Given the description of an element on the screen output the (x, y) to click on. 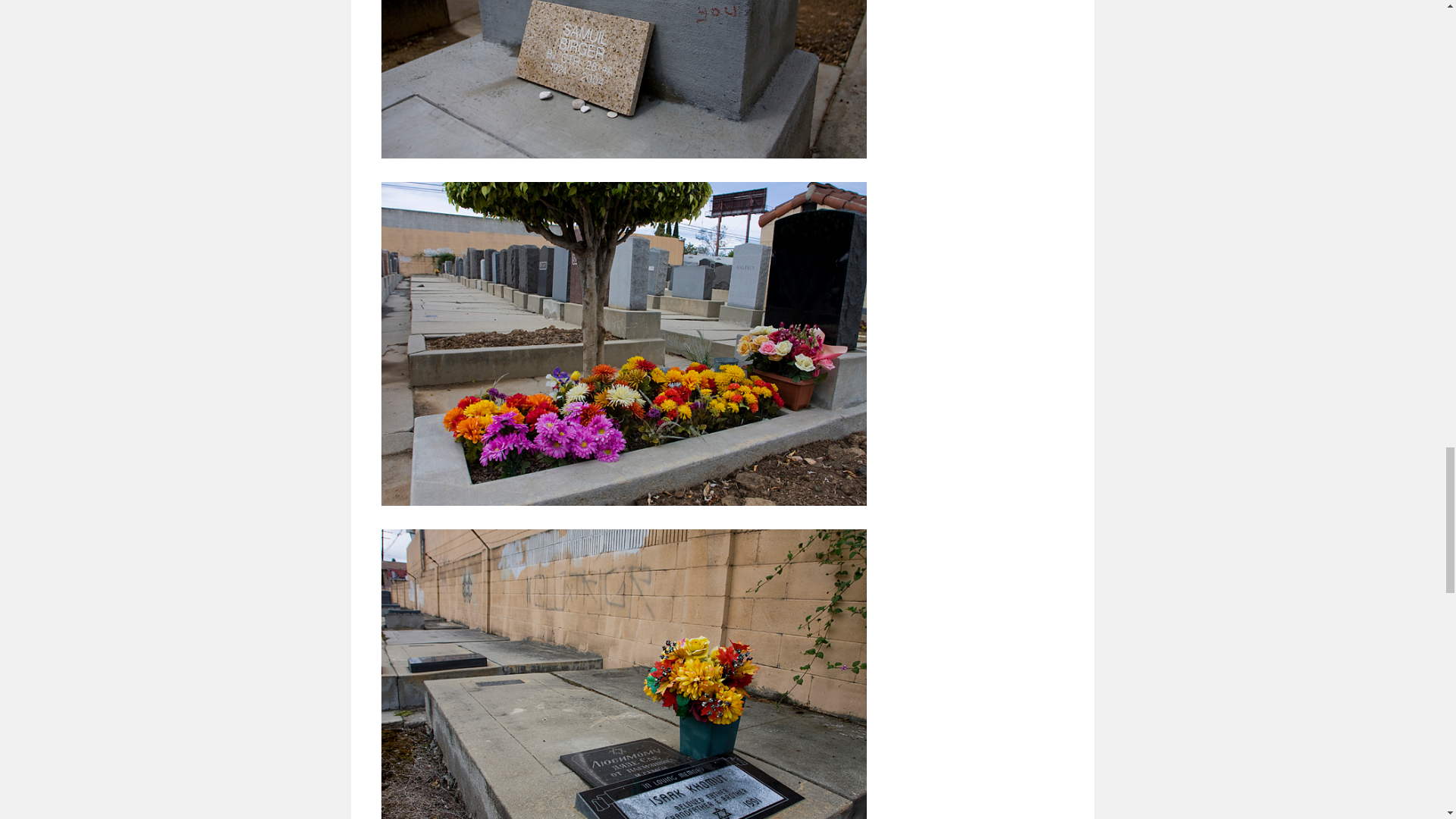
2011may18102 (623, 79)
